Given the description of an element on the screen output the (x, y) to click on. 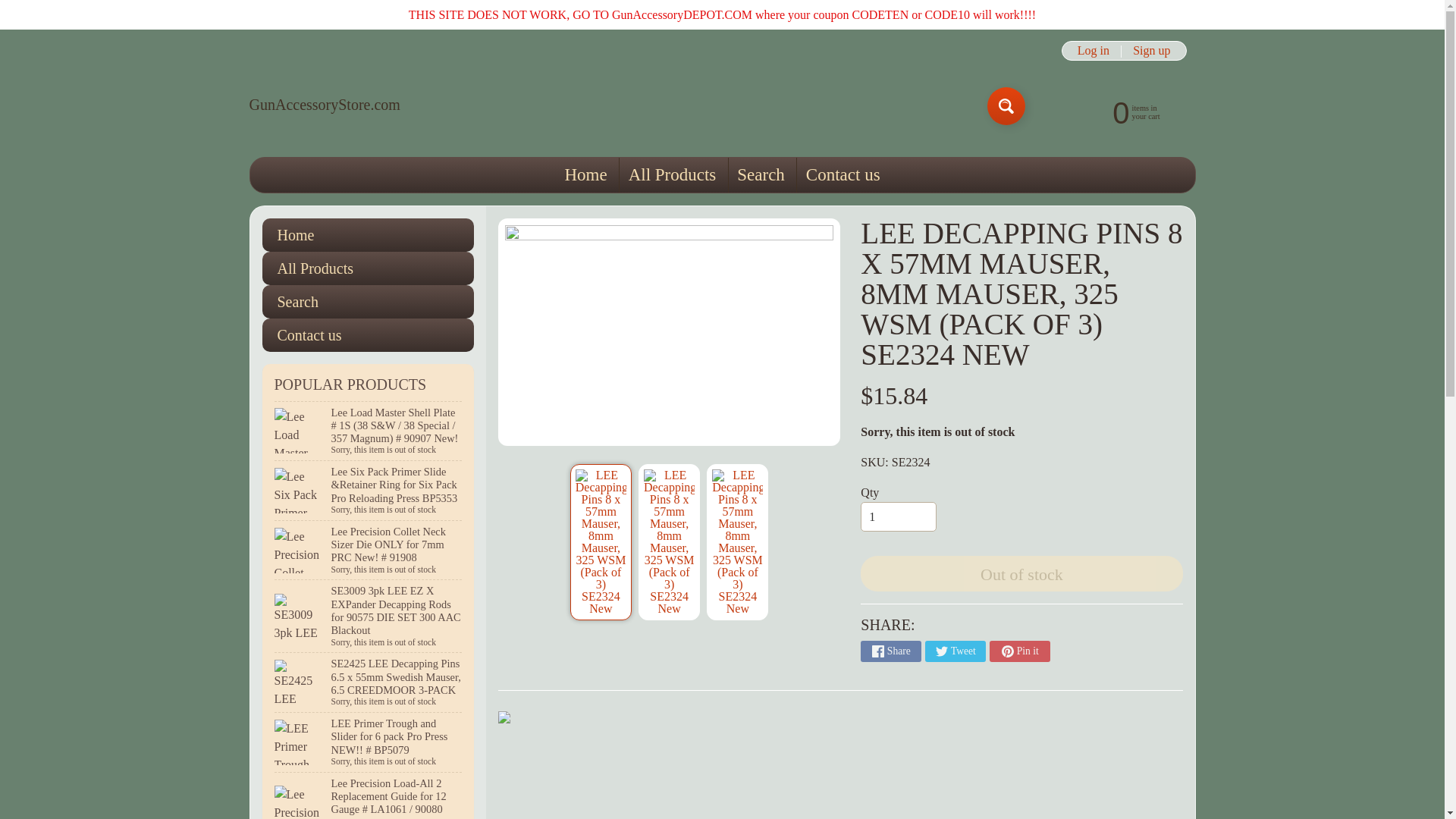
All Products (368, 268)
Skip to content (22, 8)
Search (368, 301)
1 (898, 517)
Contact us (842, 175)
Search (761, 175)
All Products (672, 175)
Home (585, 175)
Contact us (368, 335)
GunAccessoryStore.com (323, 104)
Search (1006, 105)
